Given the description of an element on the screen output the (x, y) to click on. 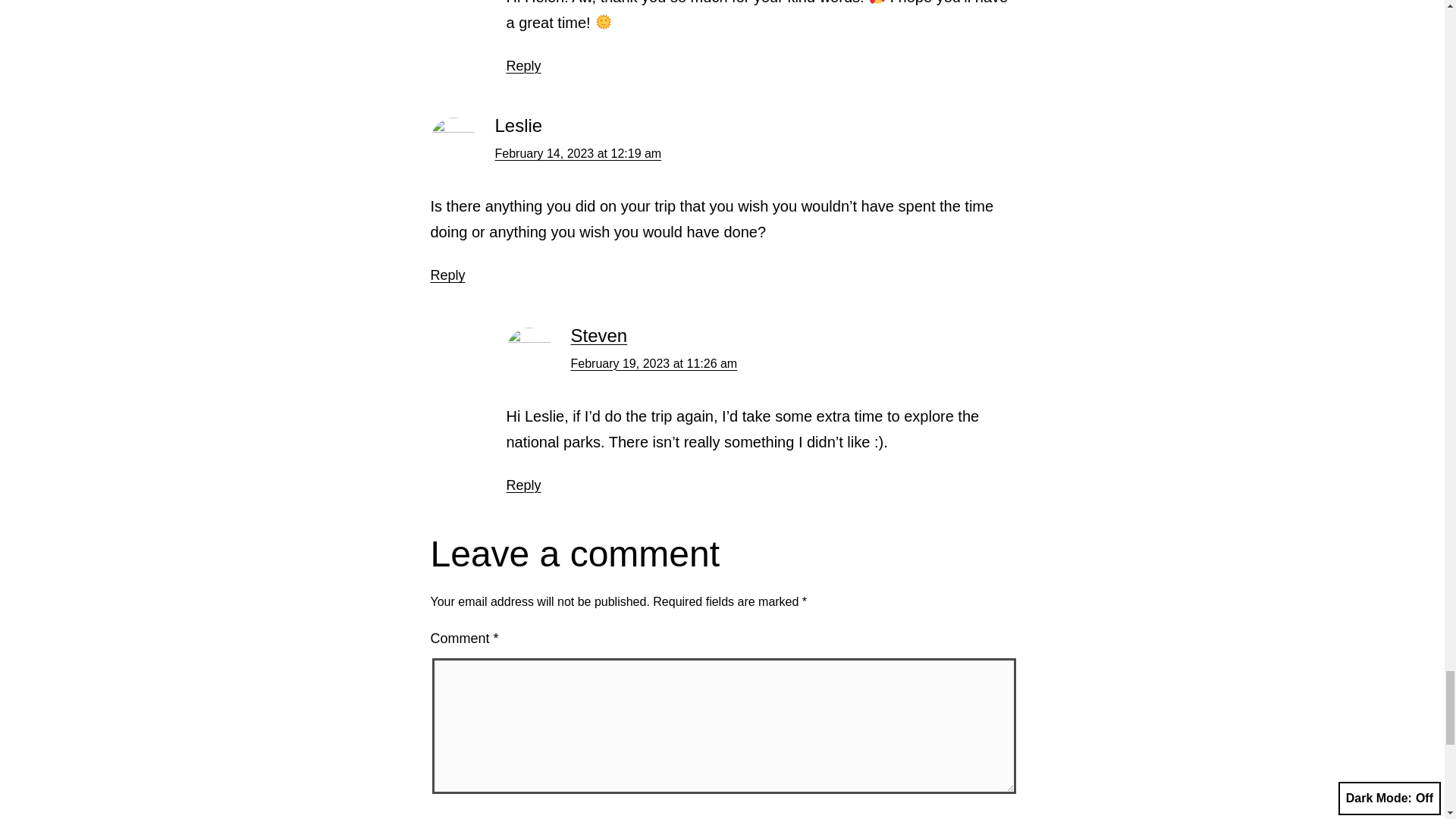
Steven (598, 335)
February 14, 2023 at 12:19 am (578, 153)
Reply (523, 65)
Reply (447, 274)
February 19, 2023 at 11:26 am (653, 363)
Reply (523, 485)
